Given the description of an element on the screen output the (x, y) to click on. 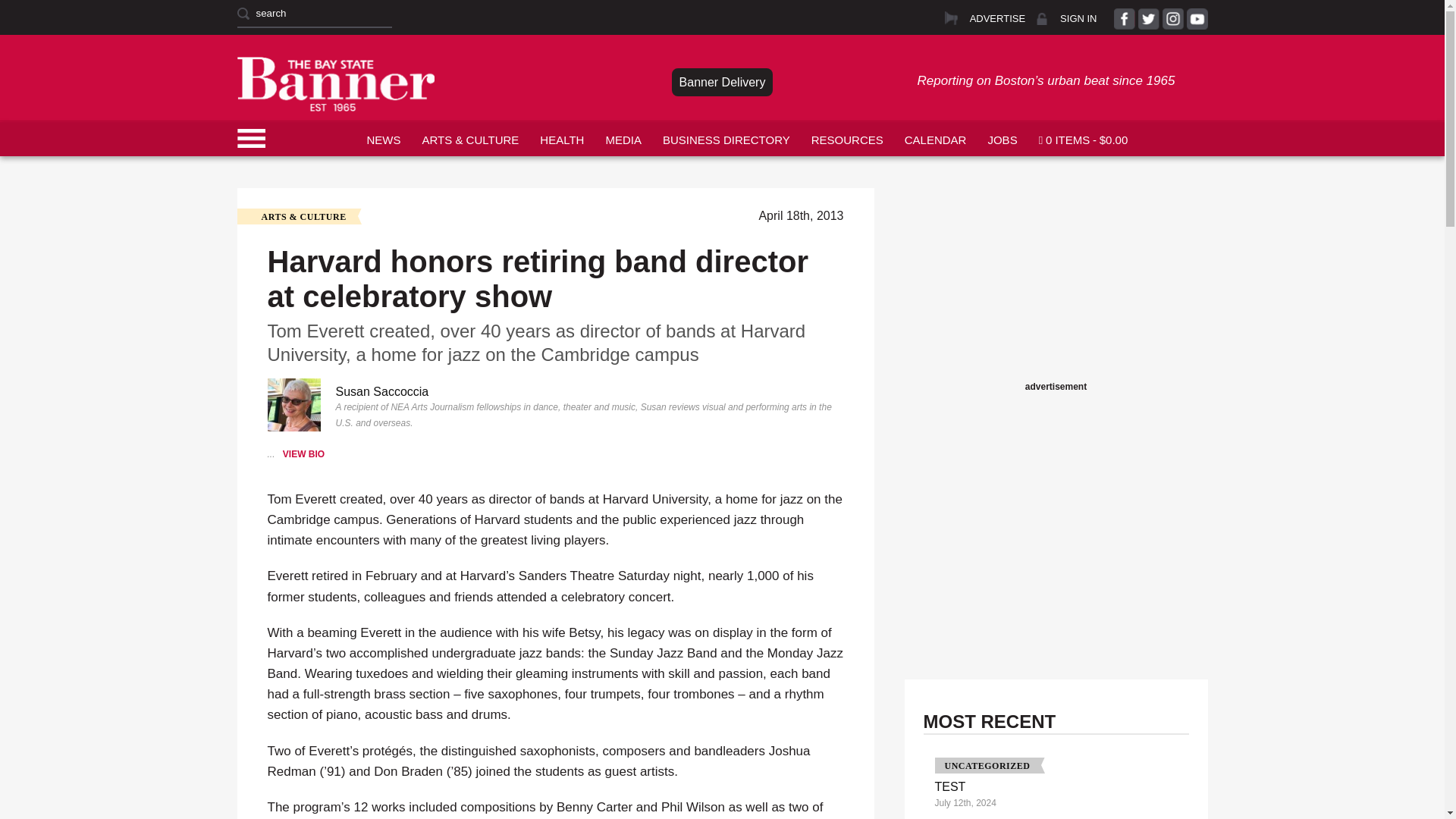
3rd party ad content (1056, 282)
Start shopping (1082, 138)
The Bay State Banner (334, 83)
